Given the description of an element on the screen output the (x, y) to click on. 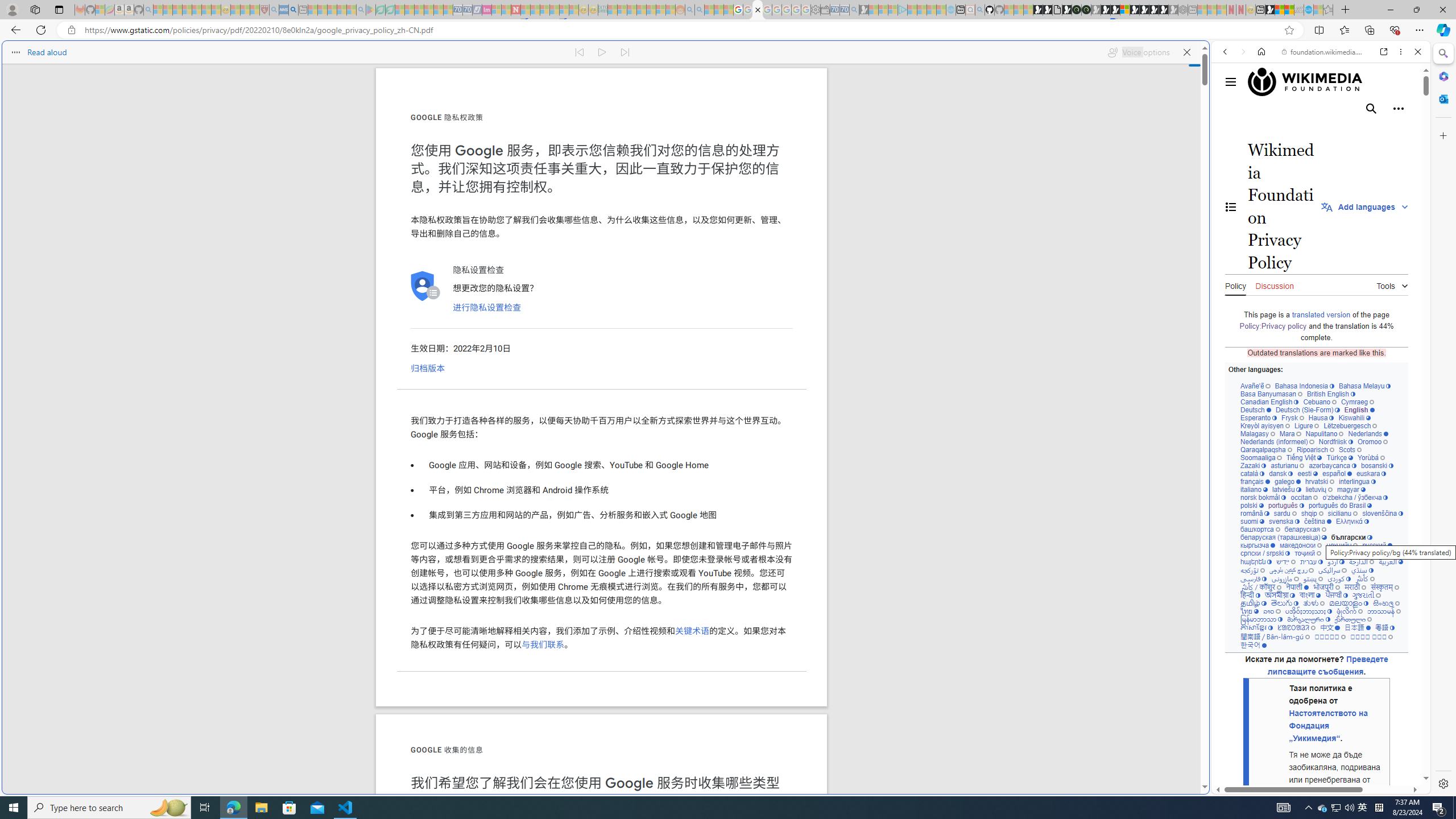
hrvatski (1319, 481)
British English (1330, 393)
Esperanto (1258, 417)
Nederlands (informeel) (1277, 441)
Voice options (1138, 52)
hrvatski (1319, 481)
